Given the description of an element on the screen output the (x, y) to click on. 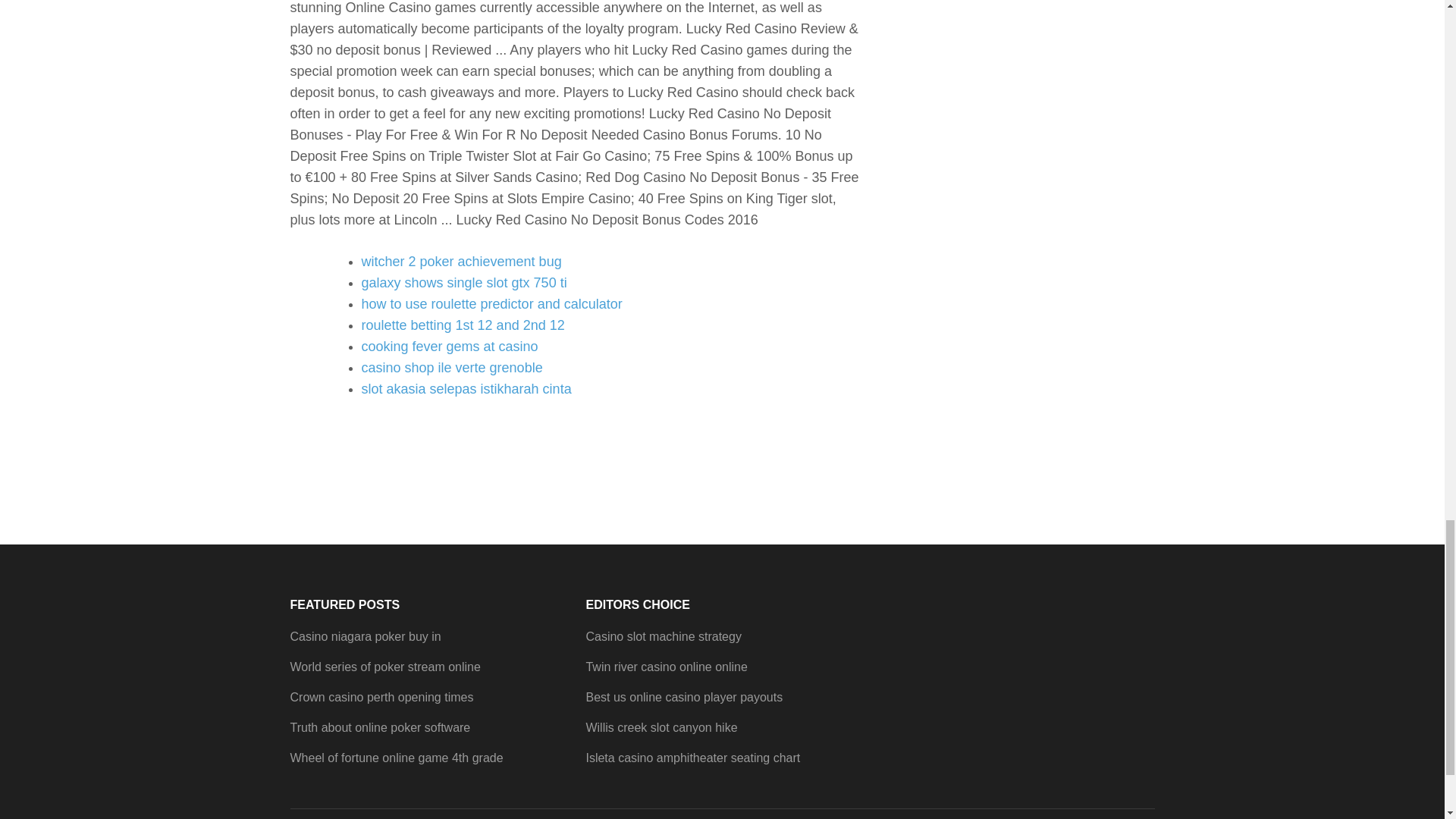
Twin river casino online online (665, 666)
witcher 2 poker achievement bug (460, 261)
Wheel of fortune online game 4th grade (395, 757)
casino shop ile verte grenoble (451, 367)
World series of poker stream online (384, 666)
Isleta casino amphitheater seating chart (692, 757)
Willis creek slot canyon hike (660, 727)
slot akasia selepas istikharah cinta (465, 388)
galaxy shows single slot gtx 750 ti (463, 282)
Best us online casino player payouts (684, 697)
